Given the description of an element on the screen output the (x, y) to click on. 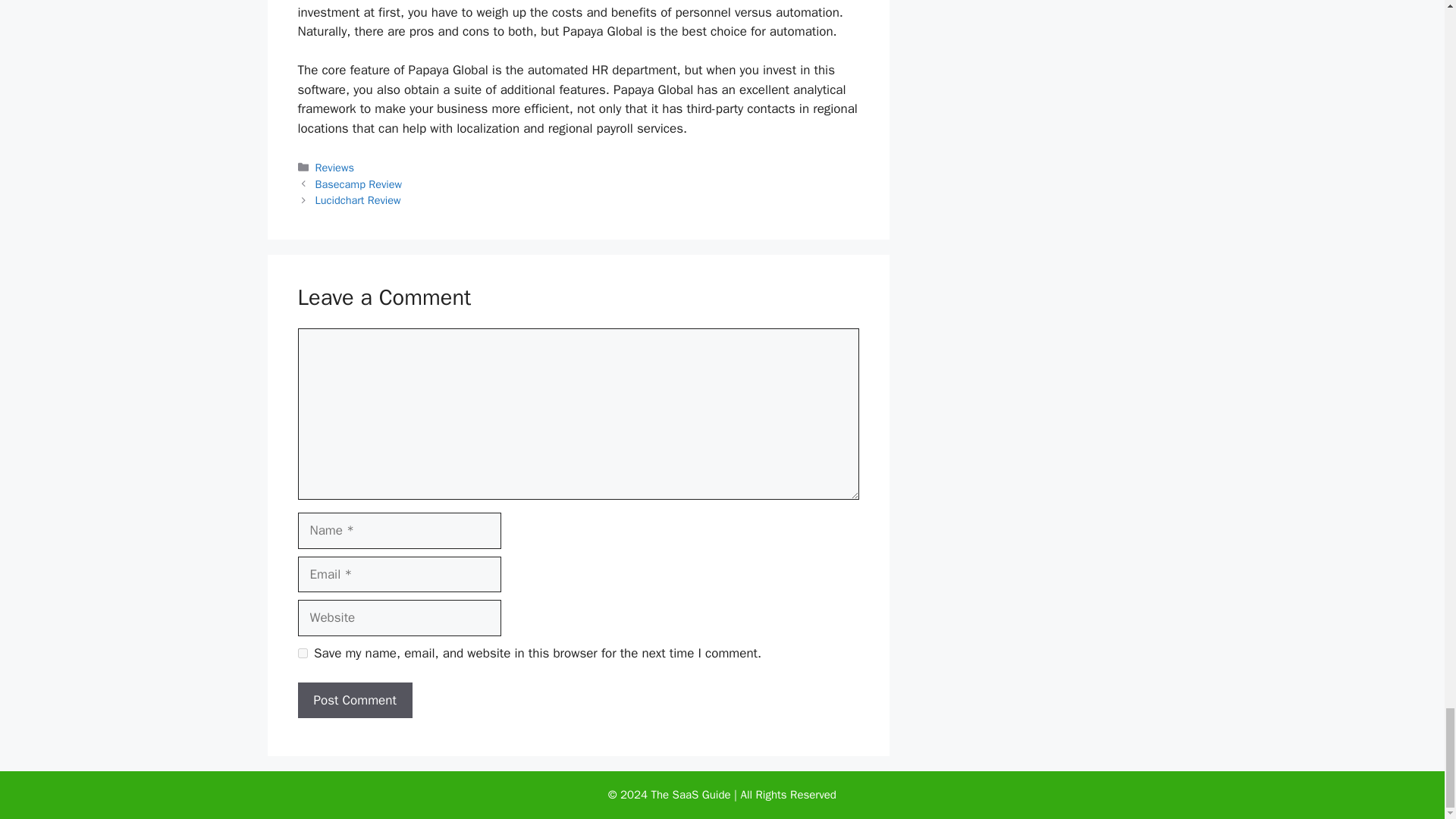
yes (302, 653)
Post Comment (354, 700)
